Given the description of an element on the screen output the (x, y) to click on. 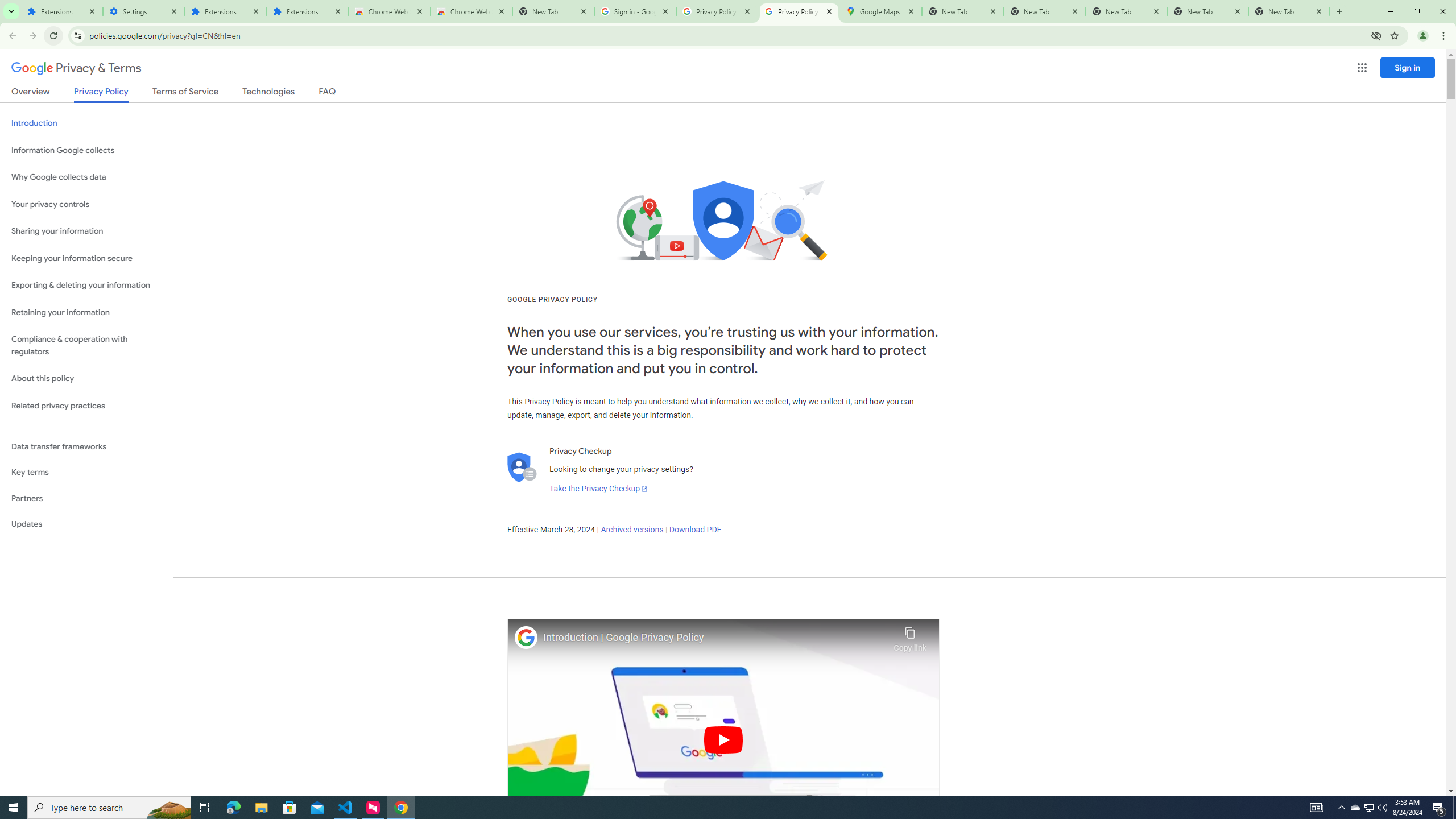
New Tab (552, 11)
